Given the description of an element on the screen output the (x, y) to click on. 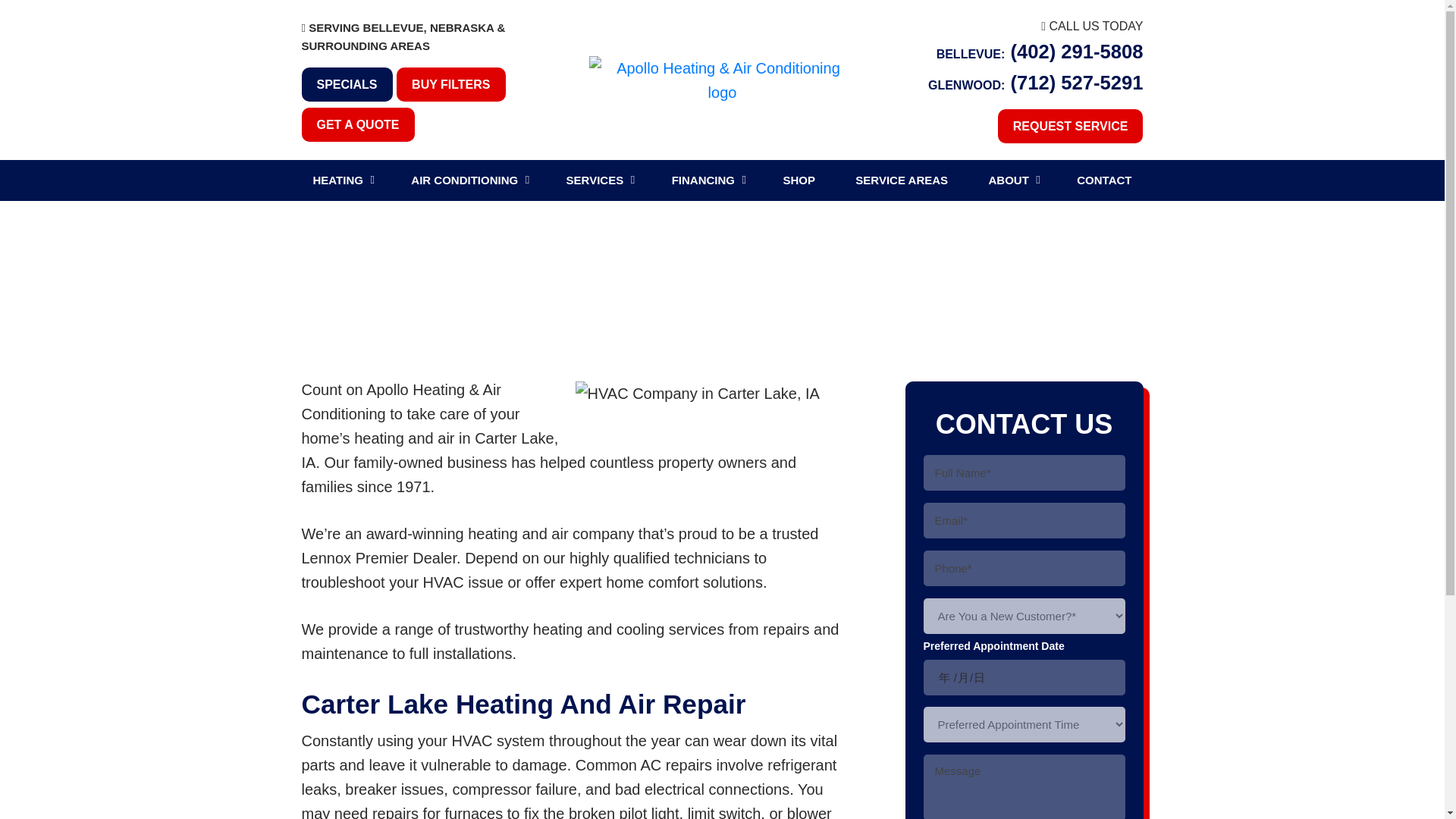
REQUEST SERVICE (1069, 125)
SERVICE AREAS (901, 179)
ABOUT (1007, 179)
SERVICES (594, 179)
FINANCING (703, 179)
GET A QUOTE (357, 124)
AIR CONDITIONING (463, 179)
SPECIALS (347, 84)
SHOP (799, 179)
HEATING (337, 179)
